Given the description of an element on the screen output the (x, y) to click on. 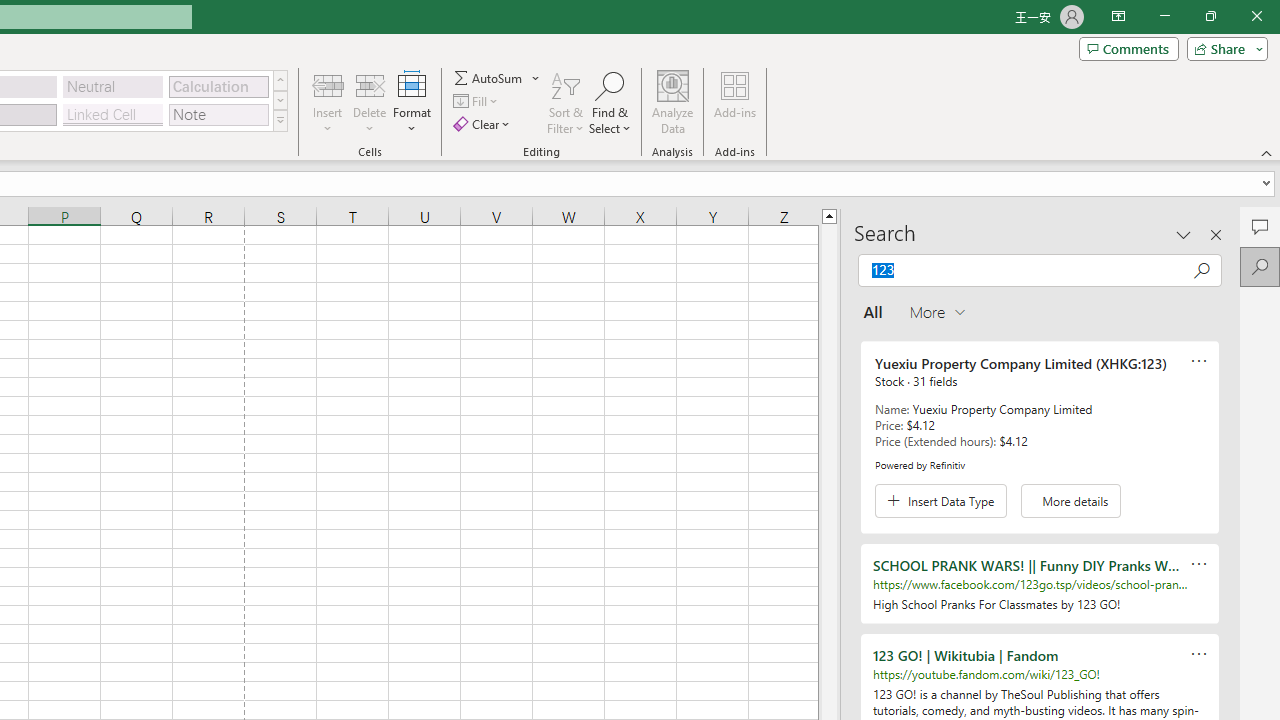
Linked Cell (113, 114)
Fill (477, 101)
AutoSum (497, 78)
Format (411, 102)
Neutral (113, 86)
Delete Cells... (369, 84)
